Given the description of an element on the screen output the (x, y) to click on. 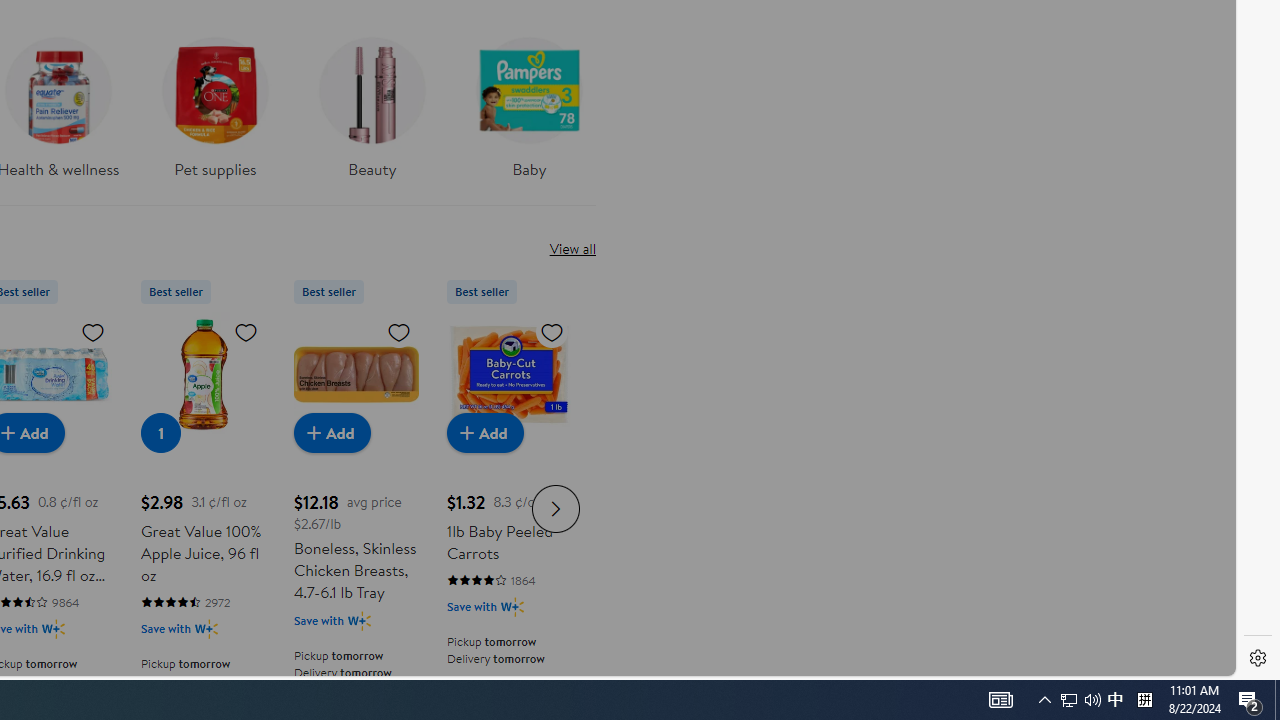
Add to cart - 1lb Baby Peeled Carrots (484, 431)
1lb Baby Peeled Carrots (509, 374)
Great Value 100% Apple Juice, 96 fl oz (203, 374)
Pet supplies (214, 101)
